Given the description of an element on the screen output the (x, y) to click on. 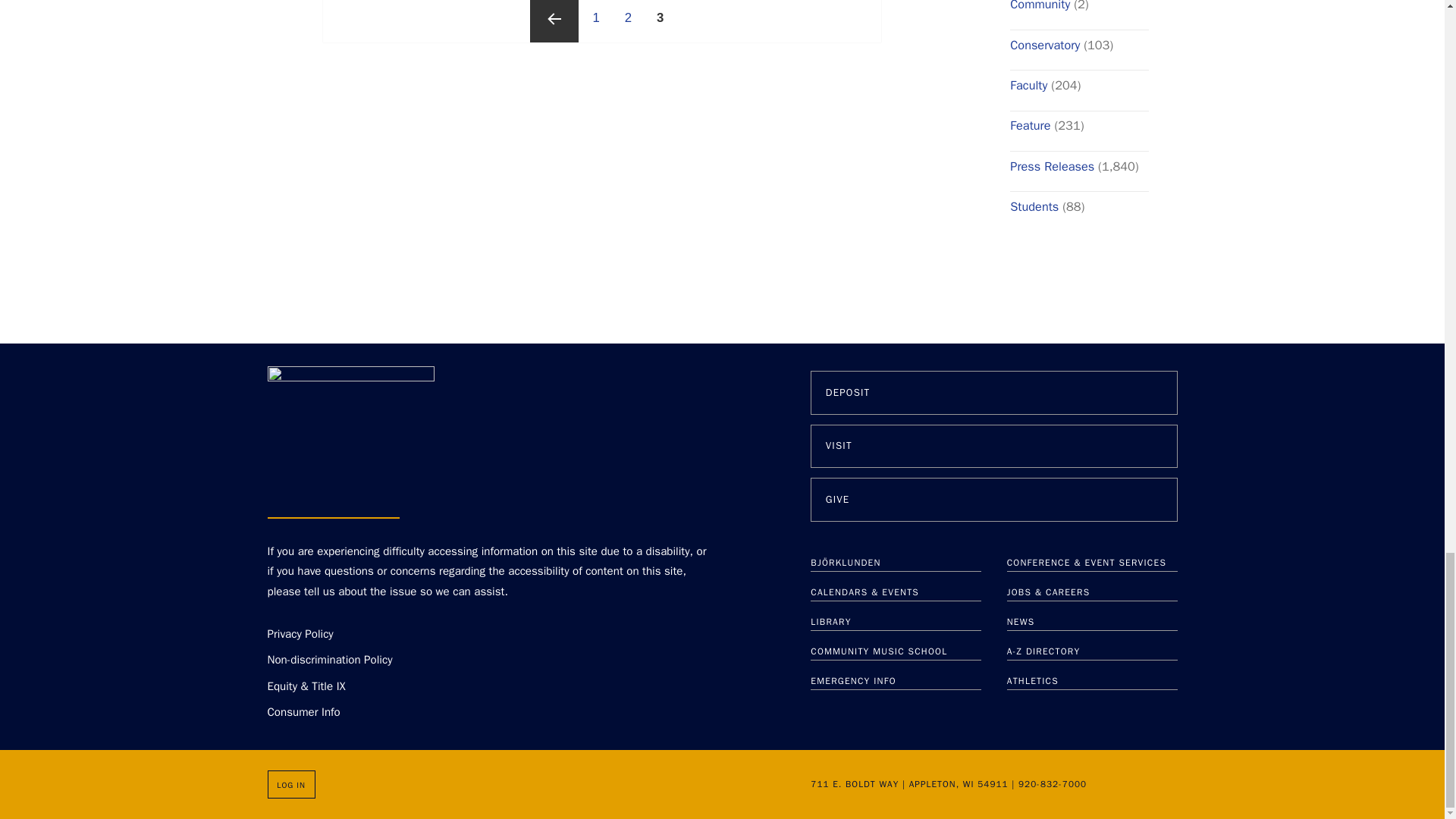
Wisconsin (968, 783)
Login (290, 784)
